Given the description of an element on the screen output the (x, y) to click on. 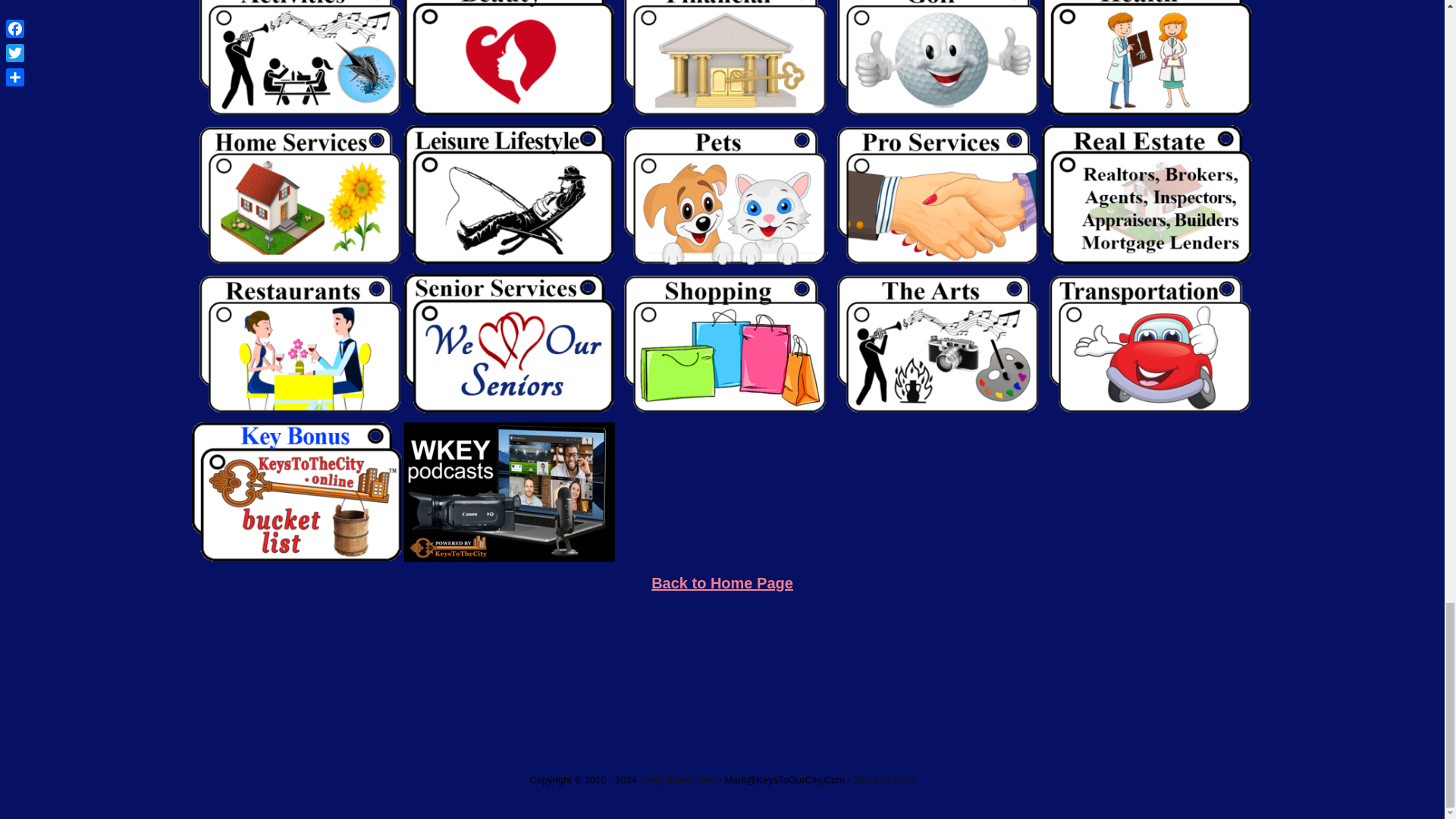
Back to Home Page (721, 582)
Wkey News.Com (678, 779)
386-235-5678 (884, 779)
